Given the description of an element on the screen output the (x, y) to click on. 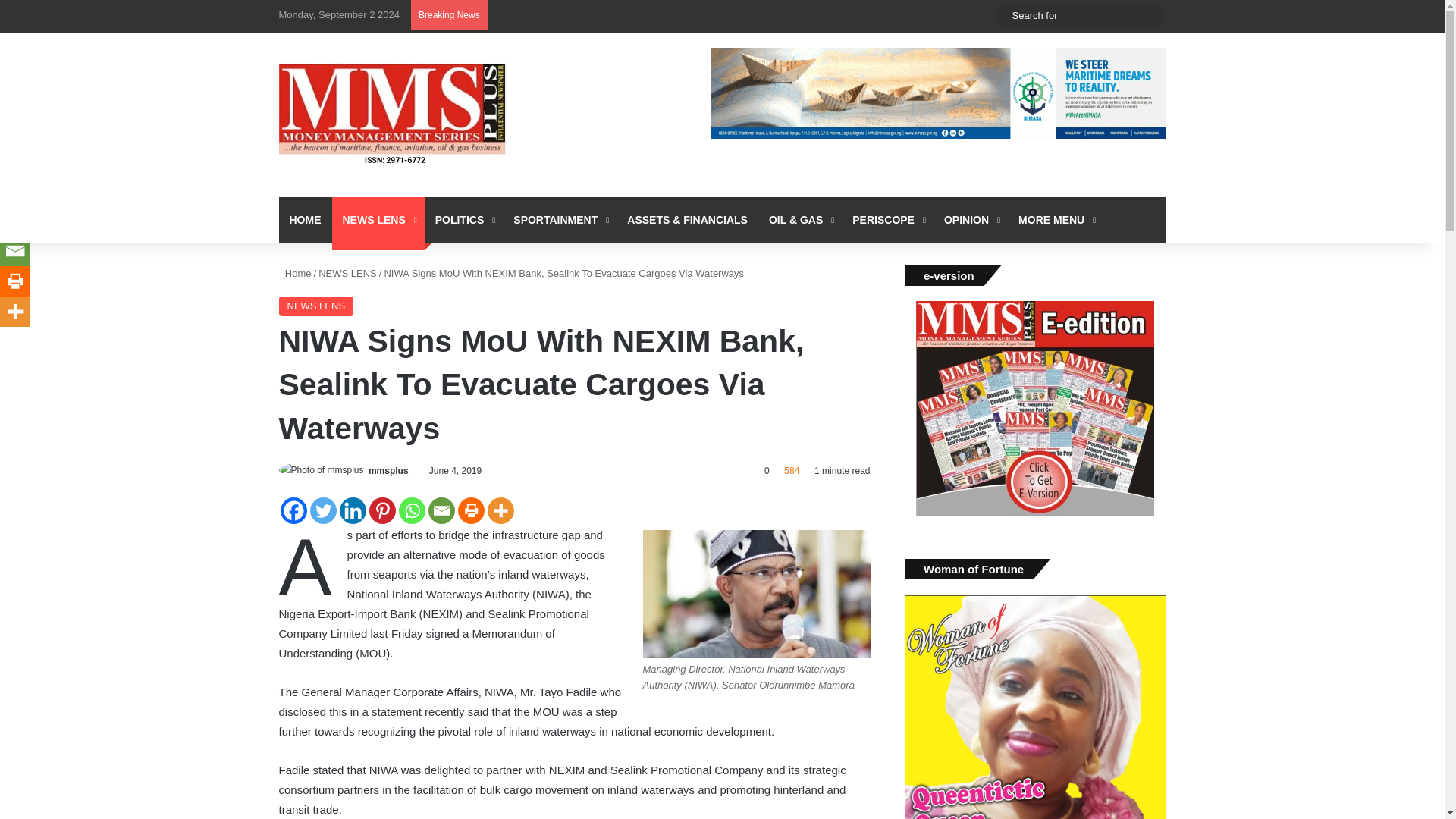
HOME (305, 219)
SPORTAINMENT (558, 219)
Twitter (322, 510)
NEWS LENS (378, 219)
Linkedin (352, 510)
PERISCOPE (887, 219)
Search for (1080, 15)
Whatsapp (411, 510)
OPINION (970, 219)
POLITICS (464, 219)
